Given the description of an element on the screen output the (x, y) to click on. 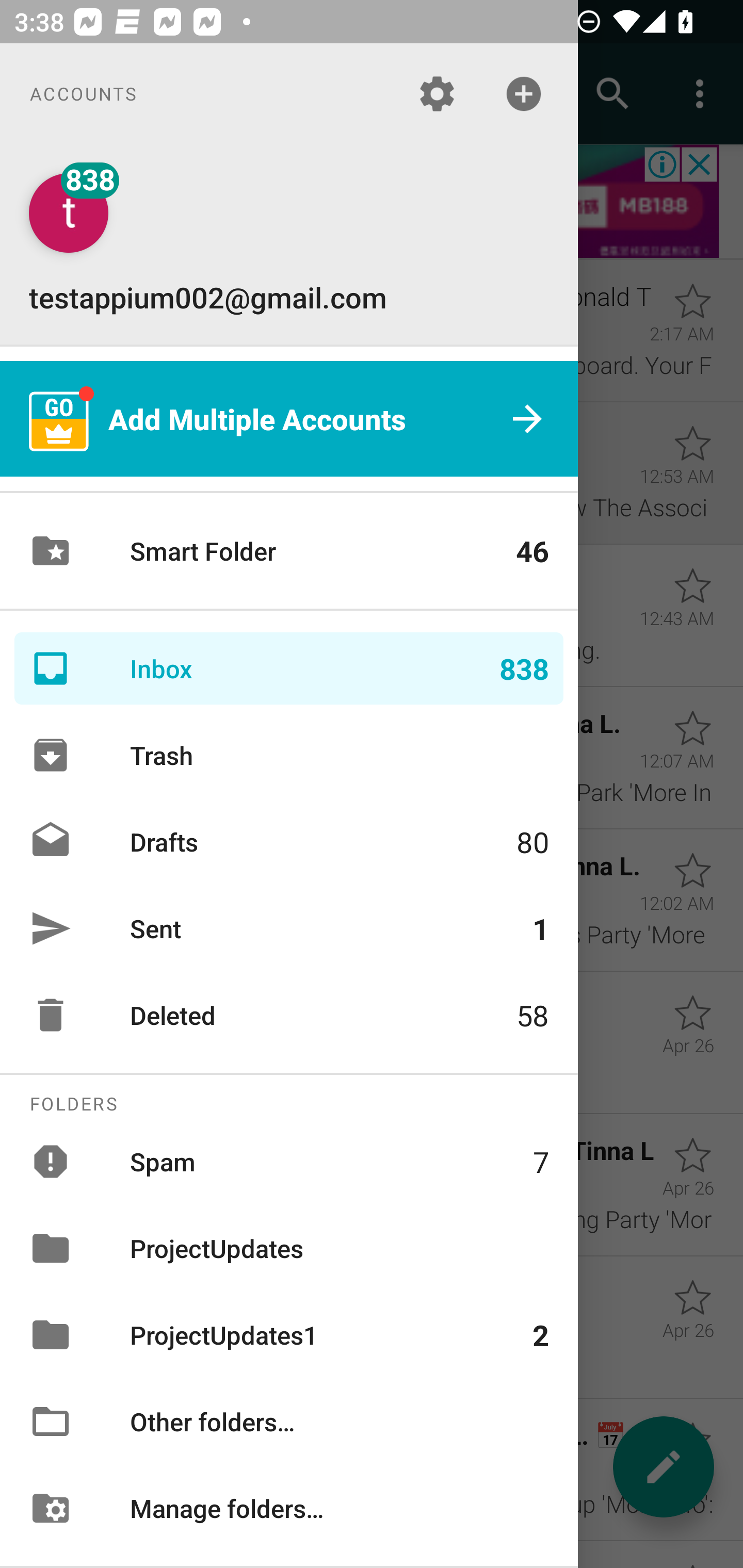
testappium002@gmail.com (289, 244)
Add Multiple Accounts (289, 418)
Smart Folder 46 (289, 551)
Inbox 838 (289, 668)
Trash (289, 754)
Drafts 80 (289, 841)
Sent 1 (289, 928)
Deleted 58 (289, 1015)
Spam 7 (289, 1160)
ProjectUpdates (289, 1248)
ProjectUpdates1 2 (289, 1335)
Other folders… (289, 1421)
Manage folders… (289, 1507)
